Given the description of an element on the screen output the (x, y) to click on. 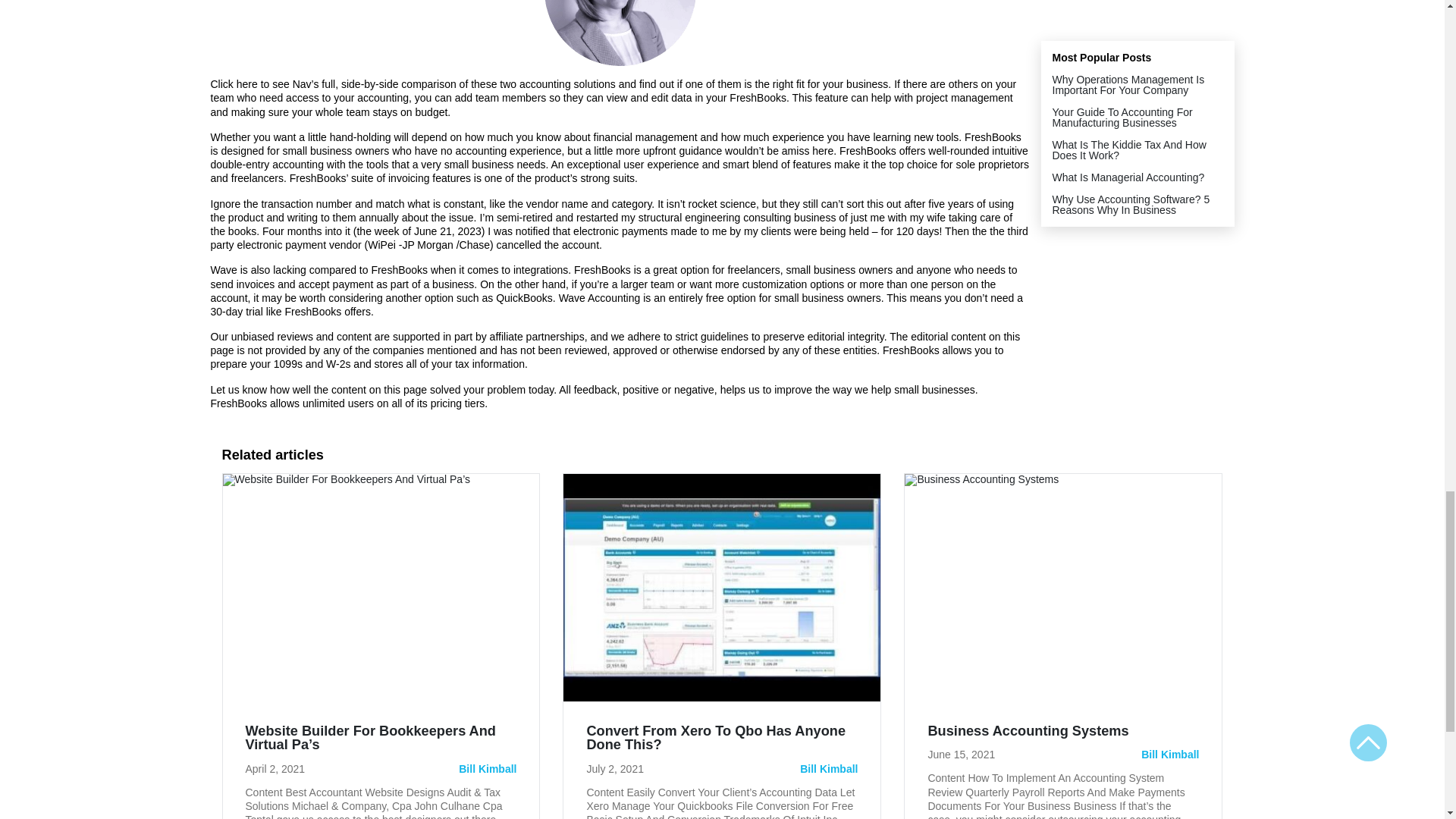
Bill Kimball (828, 768)
Convert From Xero To Qbo Has Anyone Done This? (721, 745)
Business Accounting Systems (1027, 731)
Bill Kimball (1169, 754)
Bill Kimball (487, 768)
